Given the description of an element on the screen output the (x, y) to click on. 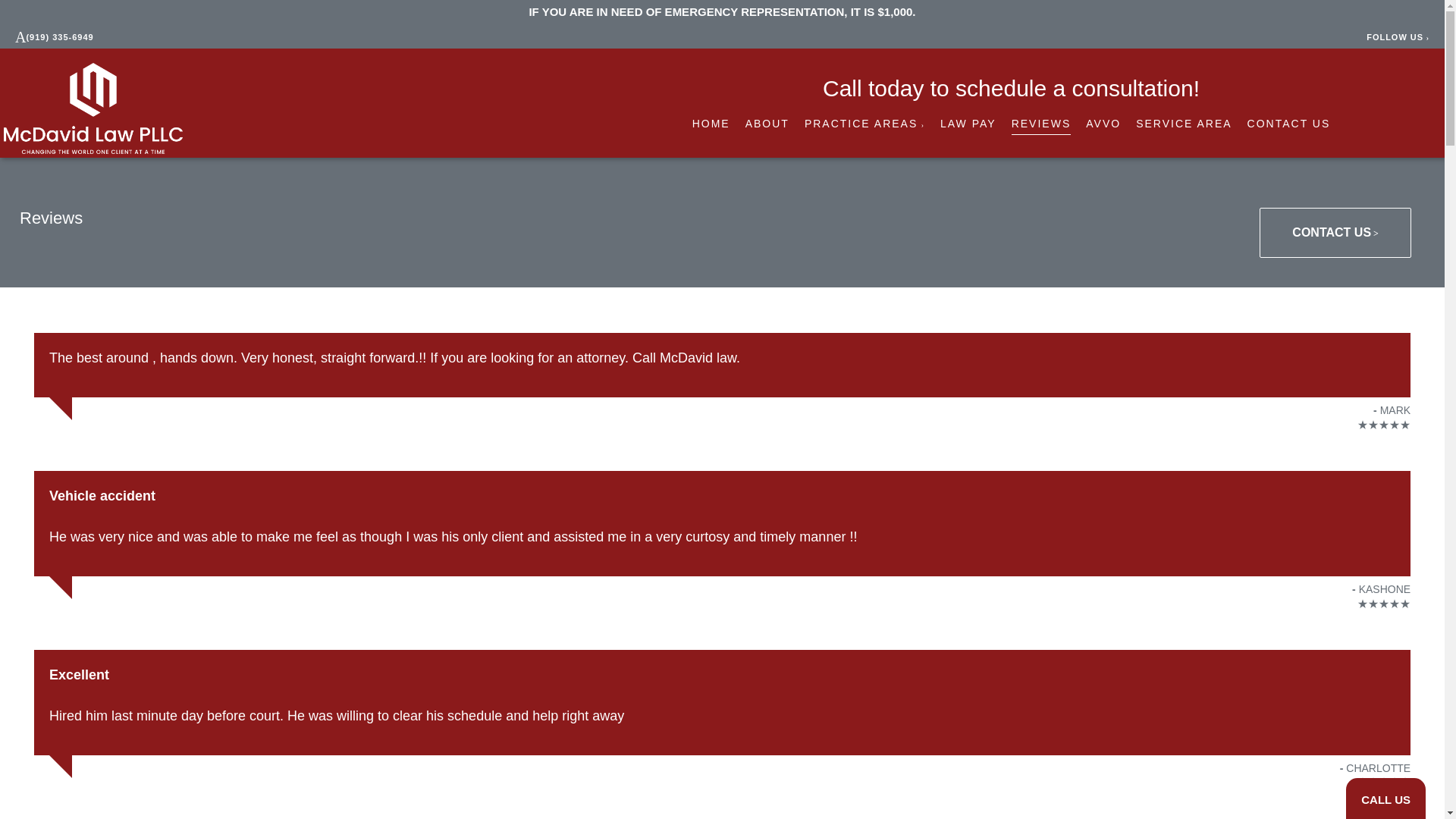
CONTACT US (1334, 232)
SERVICE AREA (1183, 124)
ABOUT (767, 124)
LAW PAY (967, 124)
CONTACT US (1288, 124)
AVVO (1103, 124)
HOME (711, 124)
REVIEWS (1041, 124)
